Given the description of an element on the screen output the (x, y) to click on. 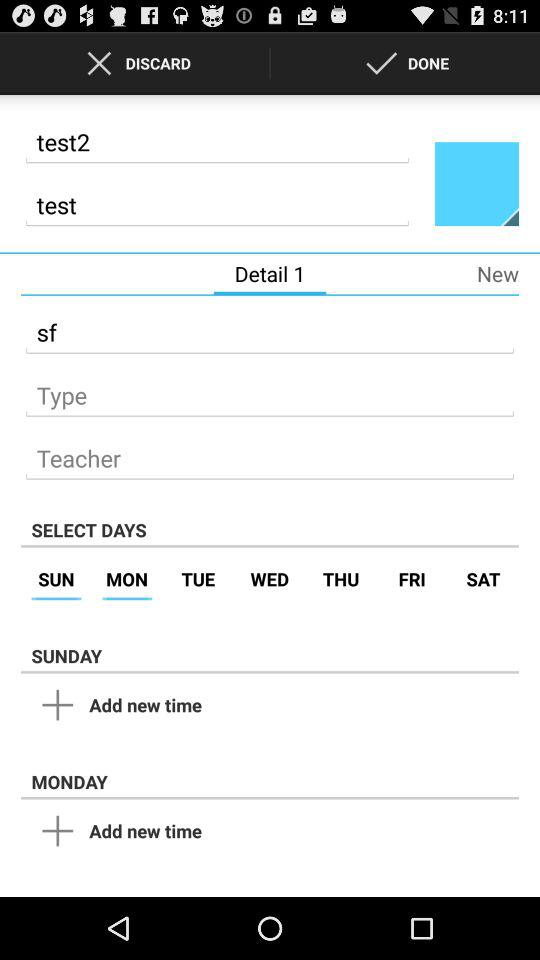
insert type (270, 389)
